Given the description of an element on the screen output the (x, y) to click on. 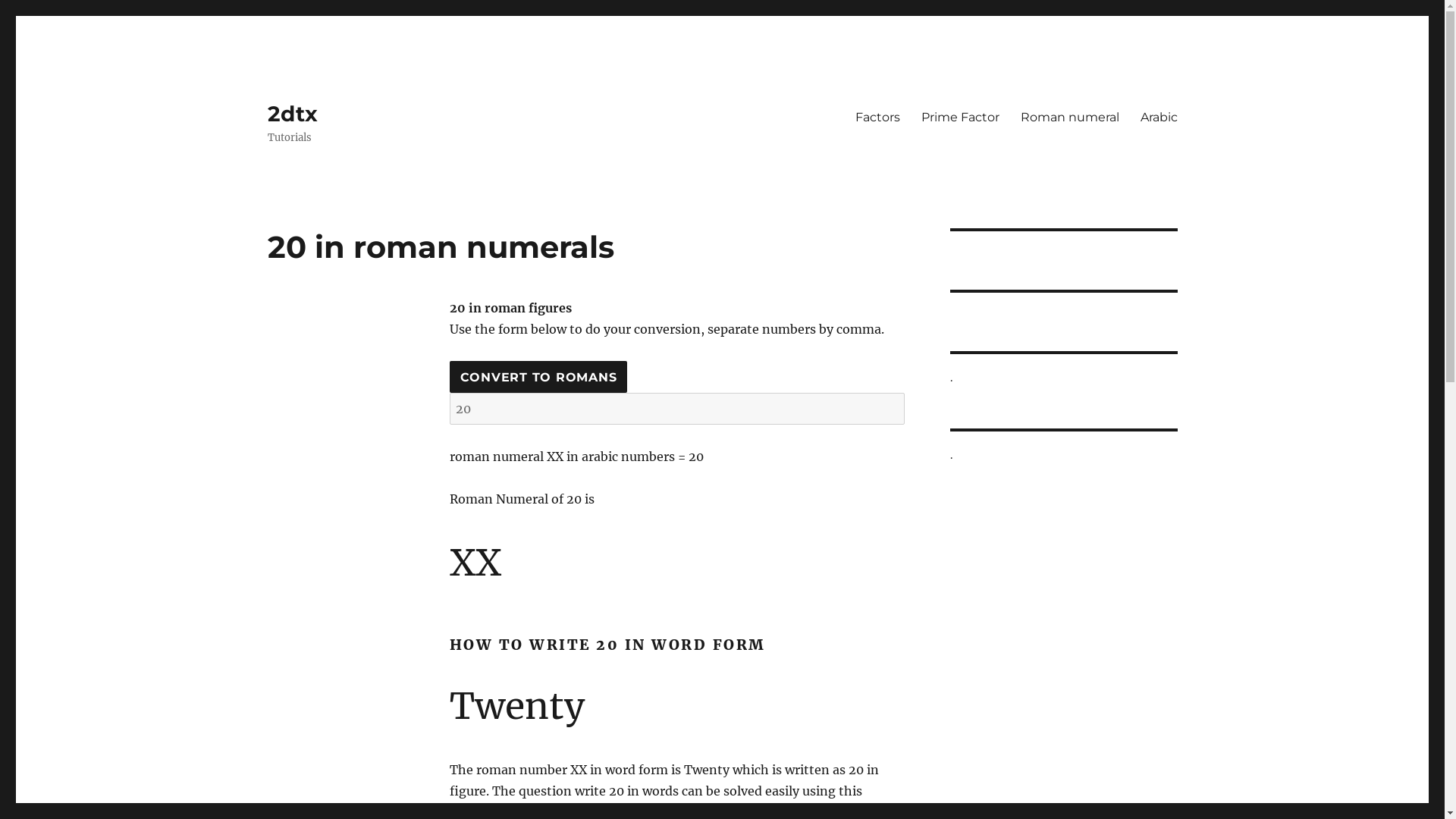
Arabic Element type: text (1158, 116)
Convert to romans Element type: text (537, 376)
Prime Factor Element type: text (959, 116)
Factors Element type: text (877, 116)
Roman numeral Element type: text (1069, 116)
